Given the description of an element on the screen output the (x, y) to click on. 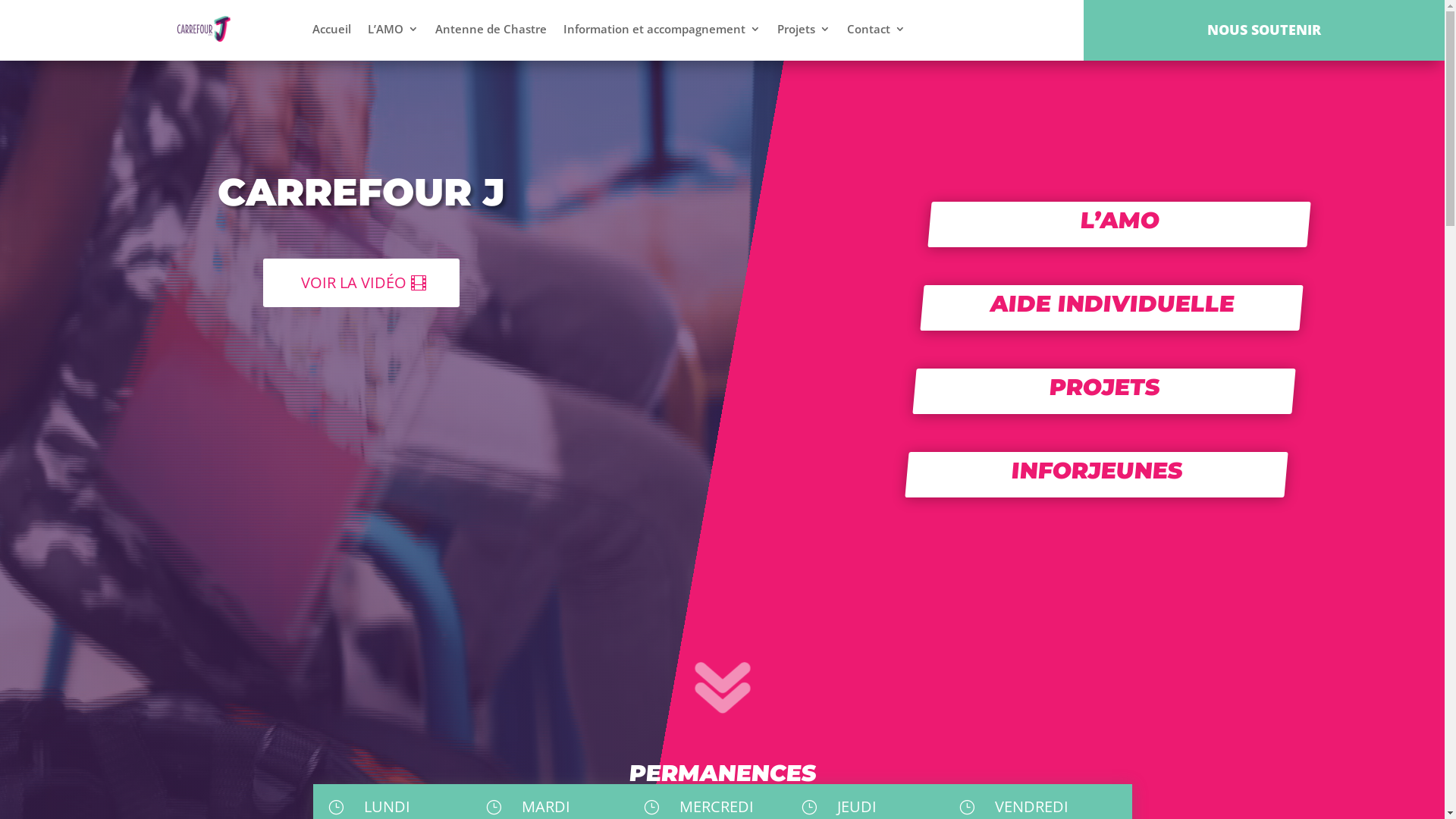
Contact Element type: text (876, 28)
Information et accompagnement Element type: text (661, 28)
Fleche web Element type: hover (743, 714)
Antenne de Chastre Element type: text (490, 28)
Accueil Element type: text (331, 28)
Projets Element type: text (803, 28)
